Given the description of an element on the screen output the (x, y) to click on. 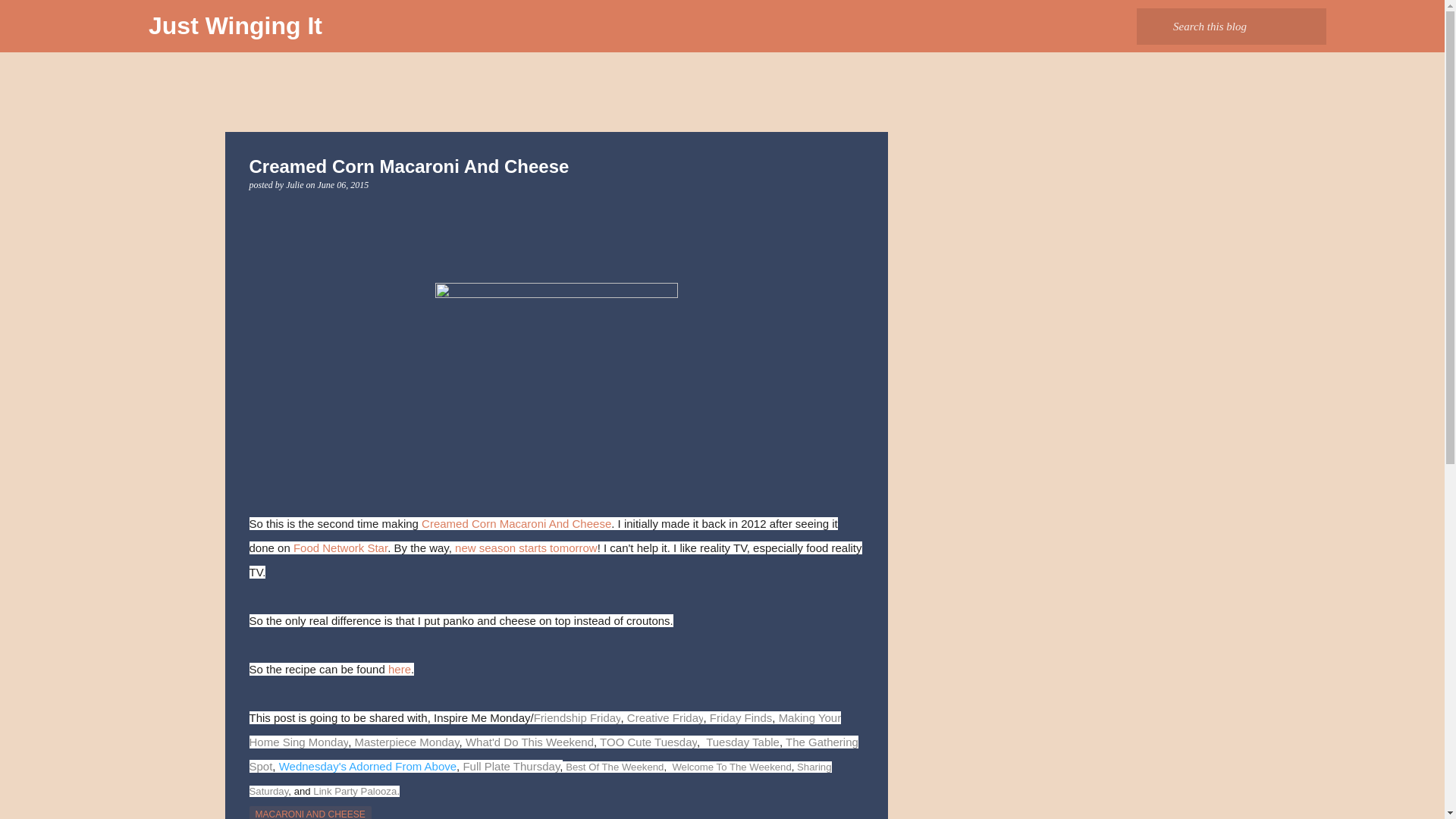
Sharing Saturday (539, 778)
Full Plate Thursday (511, 766)
MACARONI AND CHEESE (309, 812)
Making Your Home Sing Monday (544, 729)
Friendship Friday (577, 717)
permanent link (342, 184)
 Masterpiece Monday (404, 741)
Food Network Star (338, 547)
Wednesday's Adorned From Above (368, 766)
The Gathering Spot (552, 754)
 Link Party Palooza. (355, 790)
TOO Cute Tuesday (648, 741)
June 06, 2015 (342, 184)
here (399, 668)
Creative Friday (665, 717)
